Given the description of an element on the screen output the (x, y) to click on. 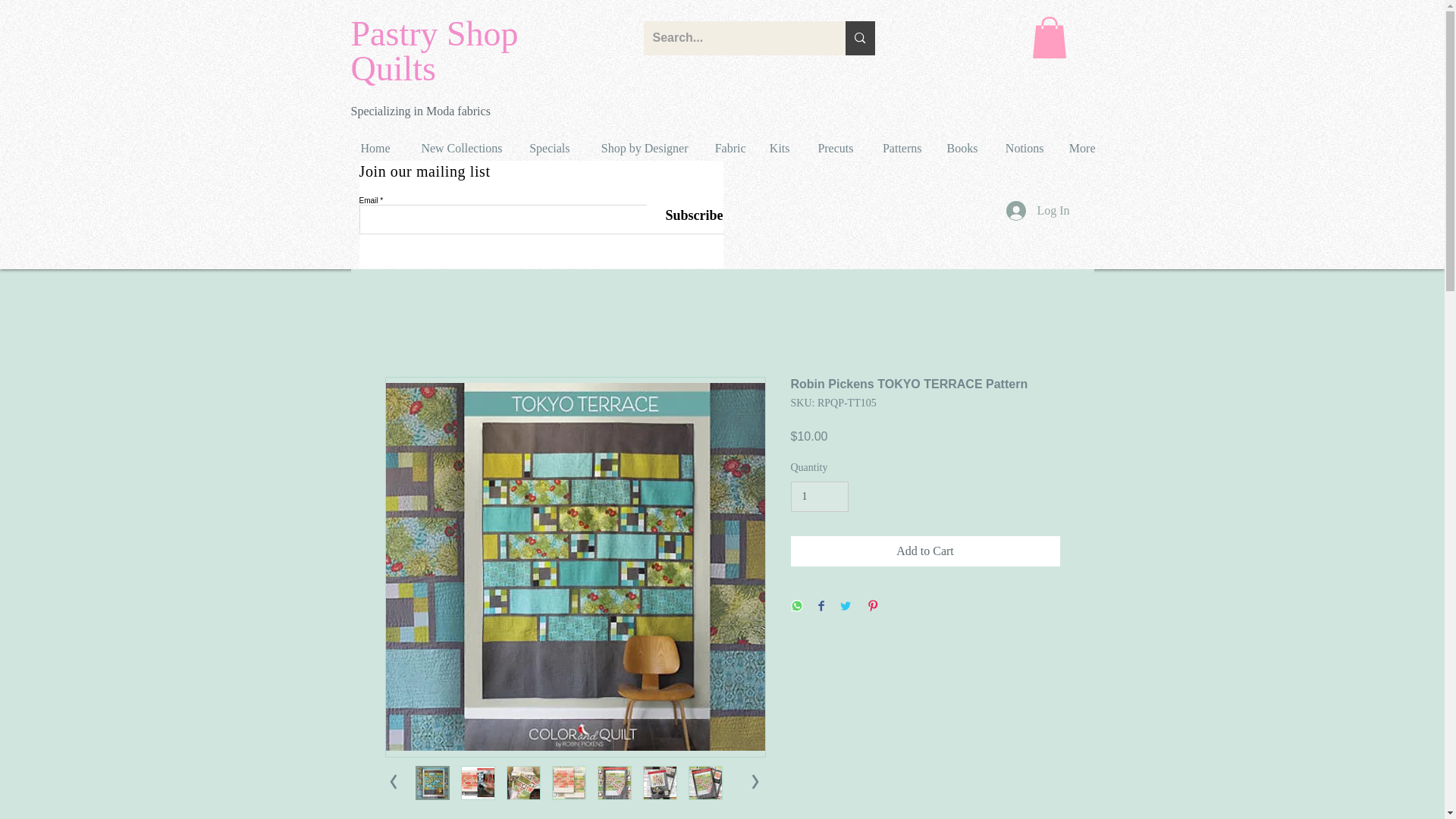
1 (818, 496)
Log In (1037, 210)
New Collections (457, 147)
Home (373, 147)
Shop by Designer (639, 147)
Specials (546, 147)
